Given the description of an element on the screen output the (x, y) to click on. 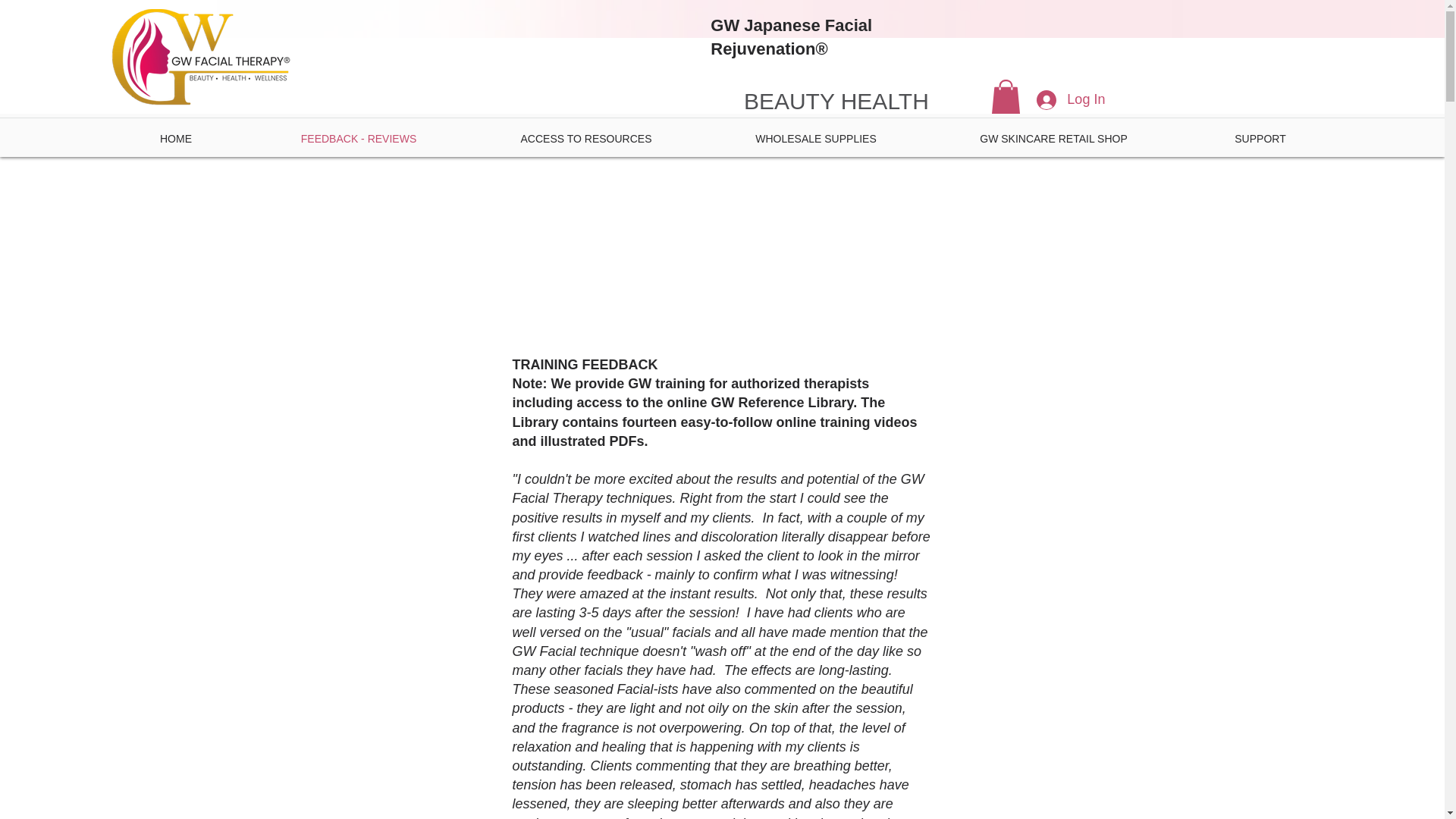
SUPPORT (1259, 138)
FEEDBACK - REVIEWS (358, 138)
ACCESS TO RESOURCES (585, 138)
Log In (1064, 99)
WHOLESALE SUPPLIES (815, 138)
HOME (175, 138)
GW SKINCARE RETAIL SHOP (1053, 138)
